Given the description of an element on the screen output the (x, y) to click on. 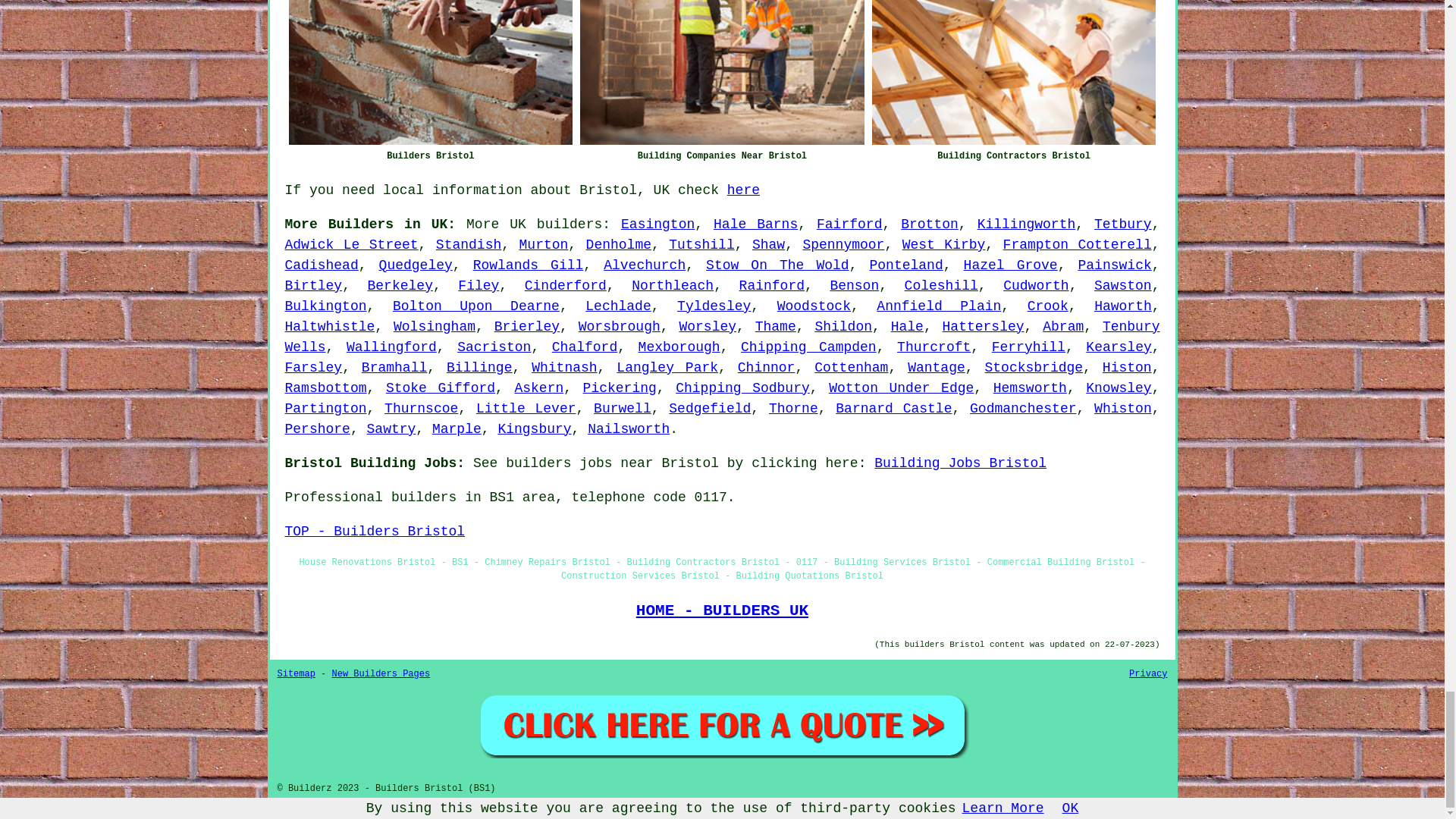
Builders Bristol (430, 72)
Building Companies Near Me Bristol (721, 72)
Building Contractors Bristol UK (1014, 72)
